Given the description of an element on the screen output the (x, y) to click on. 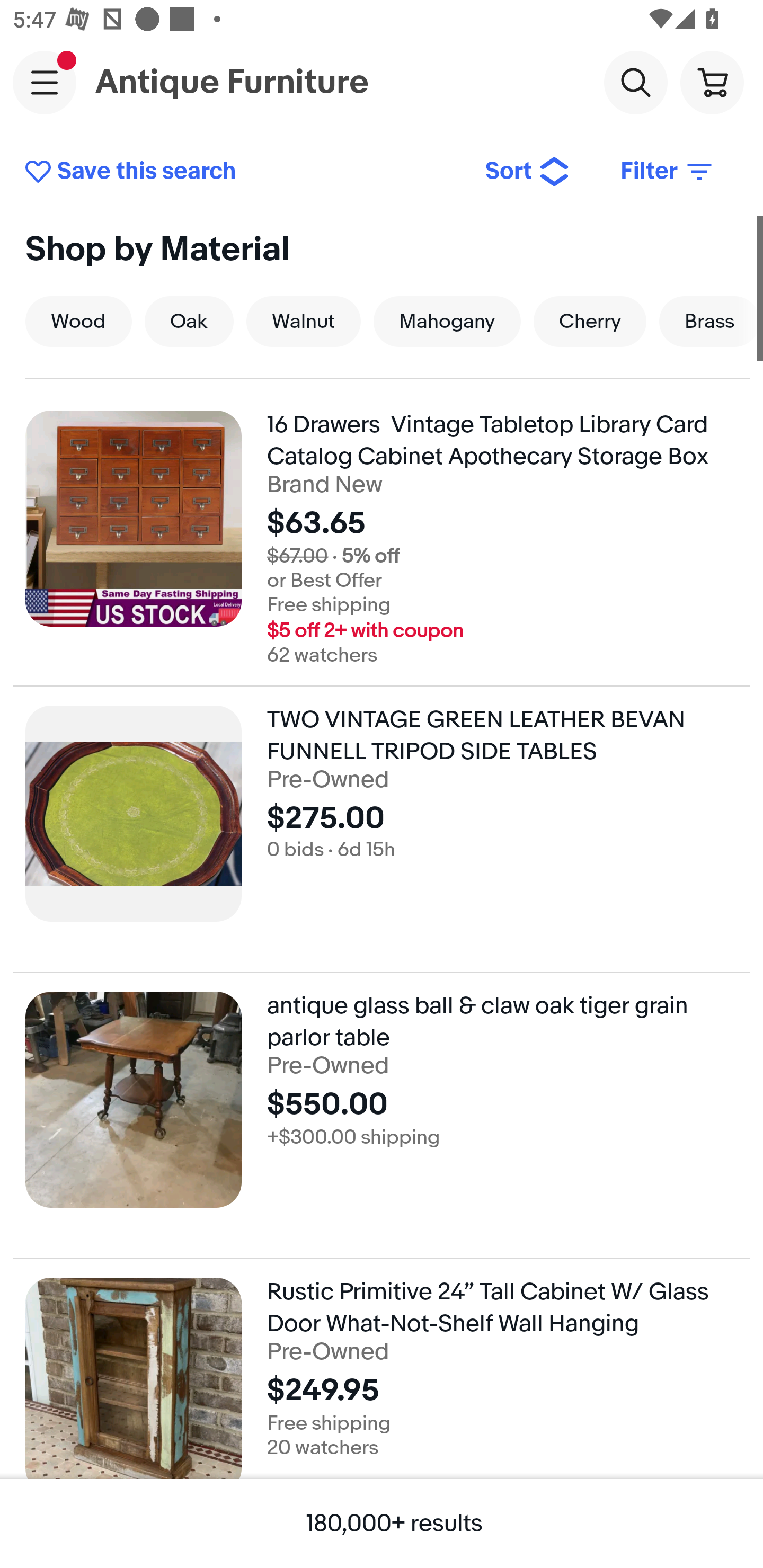
Main navigation, notification is pending, open (44, 82)
Search (635, 81)
Cart button shopping cart (711, 81)
Save this search (241, 171)
Sort (527, 171)
Filter (667, 171)
Wood Wood, Material (78, 321)
Oak Oak, Material (188, 321)
Walnut Walnut, Material (303, 321)
Mahogany Mahogany, Material (447, 321)
Cherry Cherry, Material (589, 321)
Brass Brass, Material (709, 321)
